Given the description of an element on the screen output the (x, y) to click on. 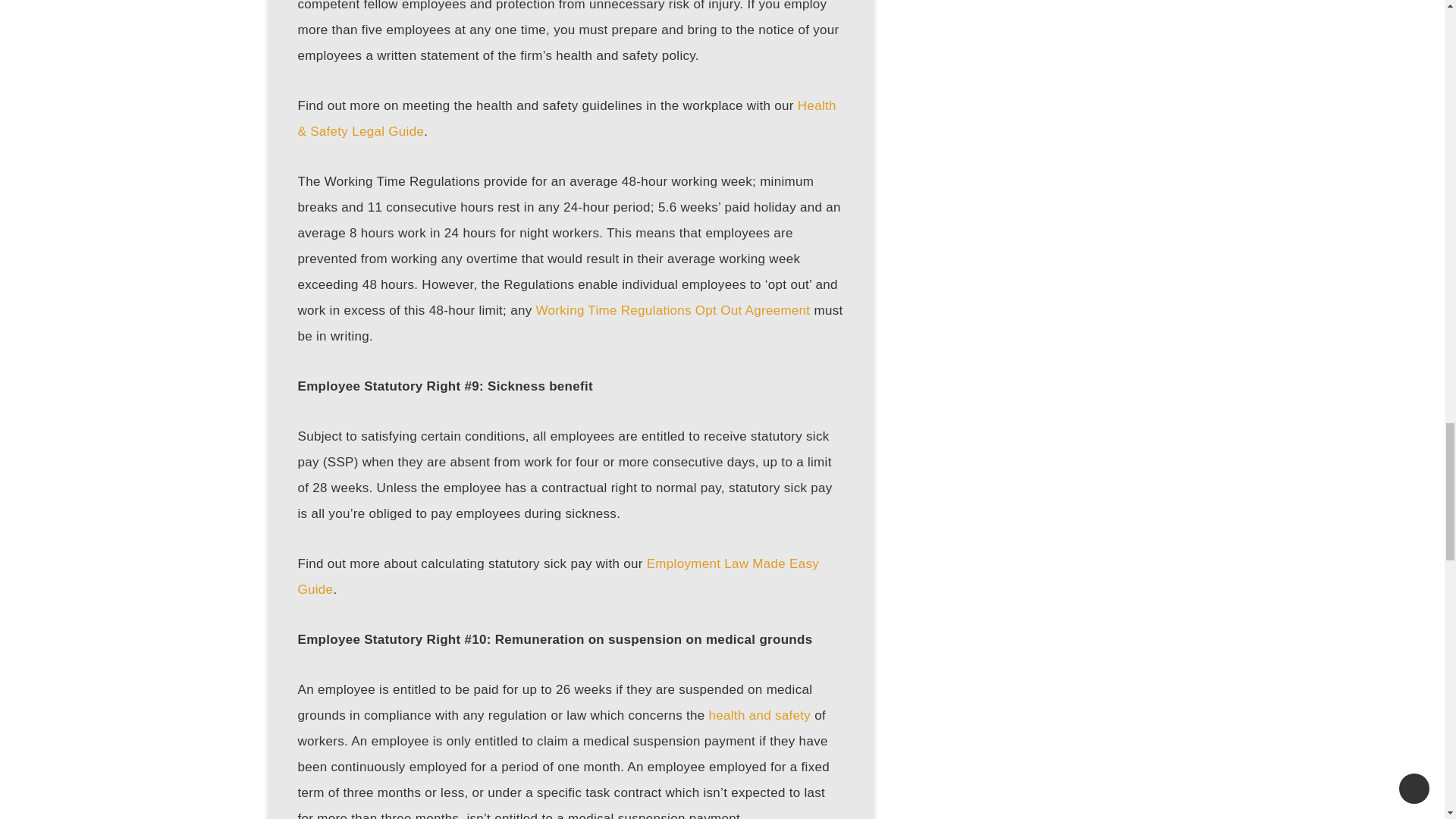
Employment Law Made Easy Guide (557, 576)
Working Time Regulations Opt Out Agreement (672, 310)
health and safety (759, 715)
